Given the description of an element on the screen output the (x, y) to click on. 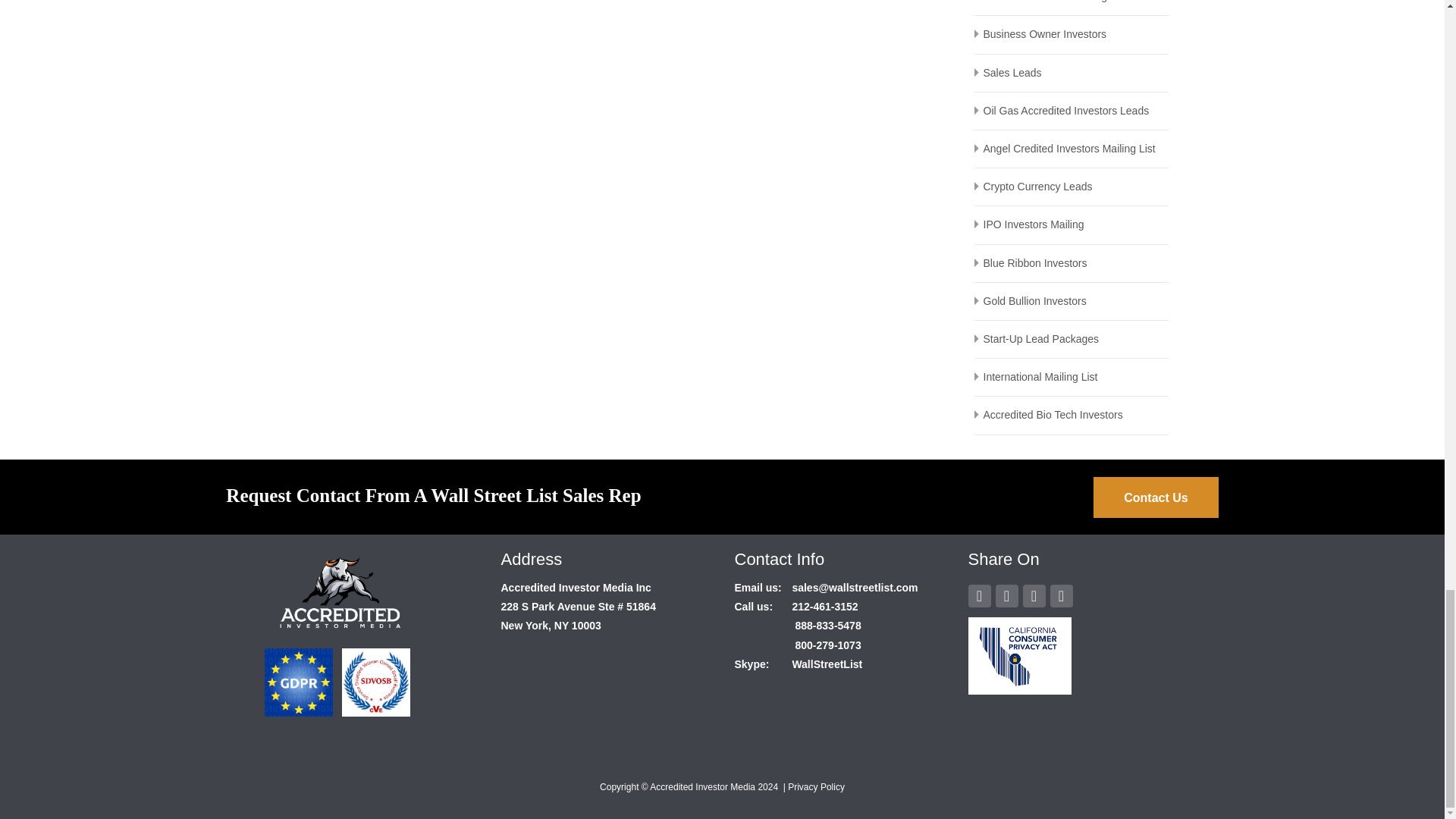
linkedin (1060, 597)
facebook (979, 597)
googleplus (1005, 597)
twitter (1033, 597)
